Given the description of an element on the screen output the (x, y) to click on. 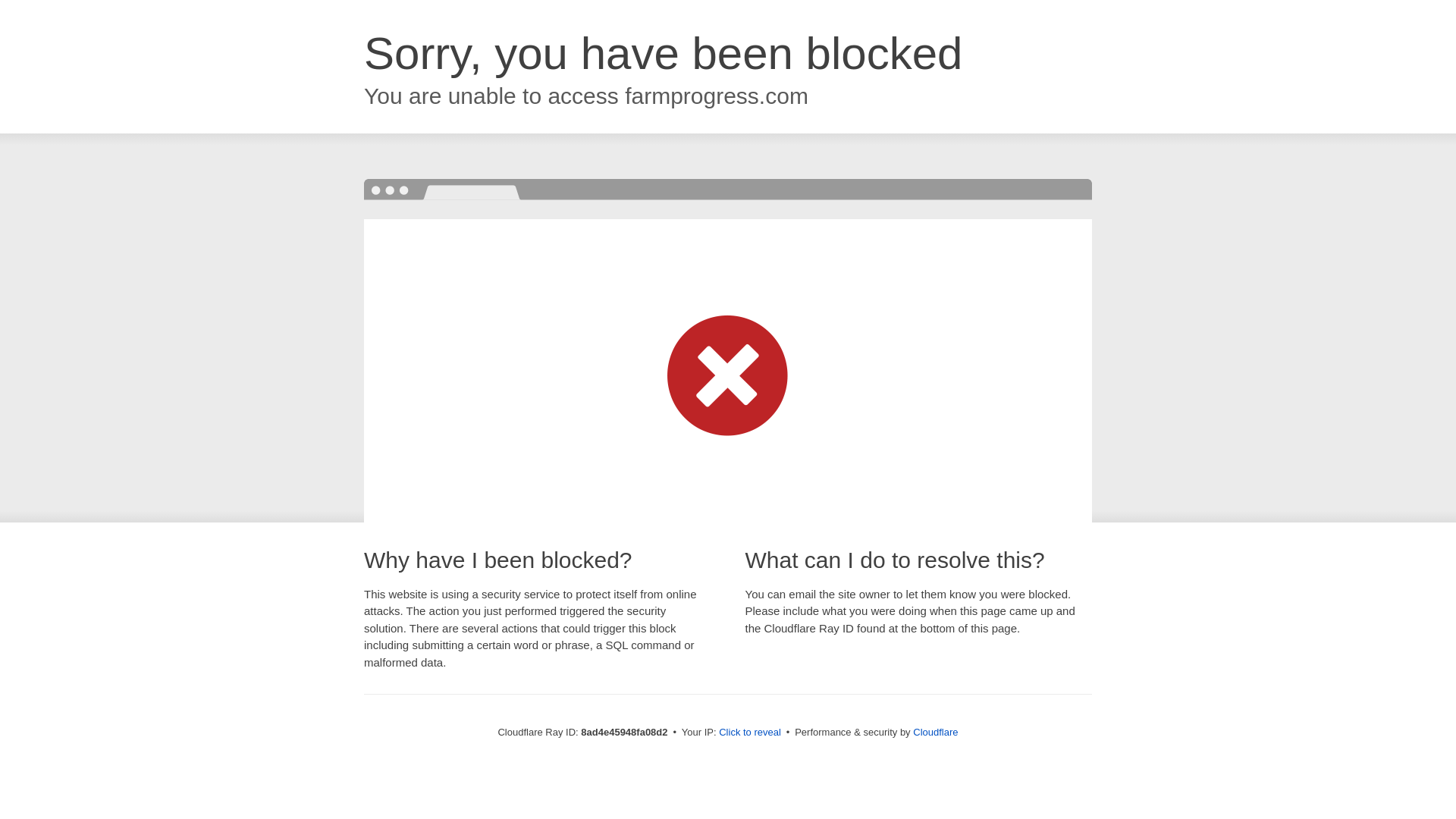
Click to reveal (749, 732)
Cloudflare (935, 731)
